Given the description of an element on the screen output the (x, y) to click on. 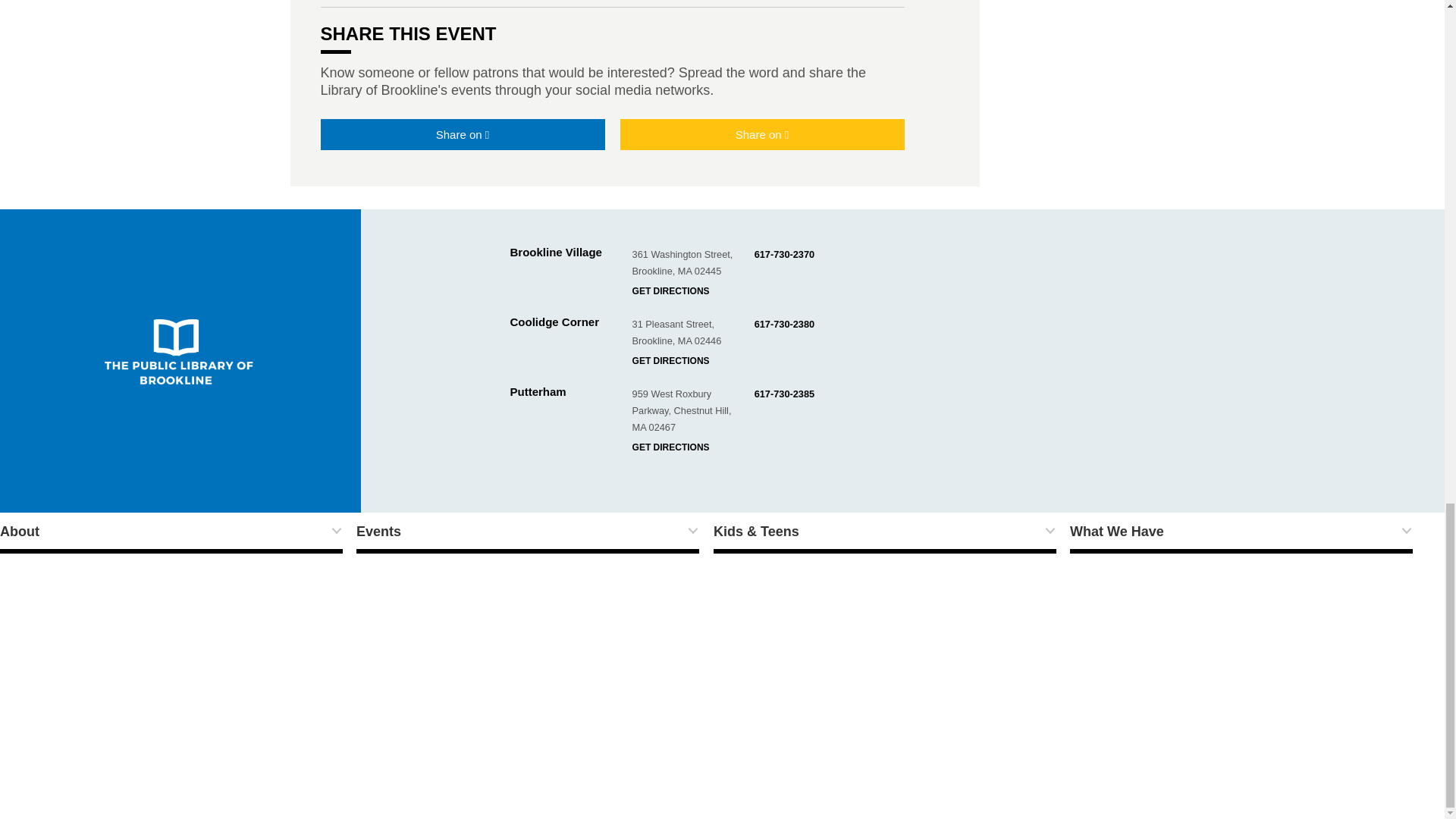
Share on (762, 133)
Share on (462, 133)
About (171, 532)
